Given the description of an element on the screen output the (x, y) to click on. 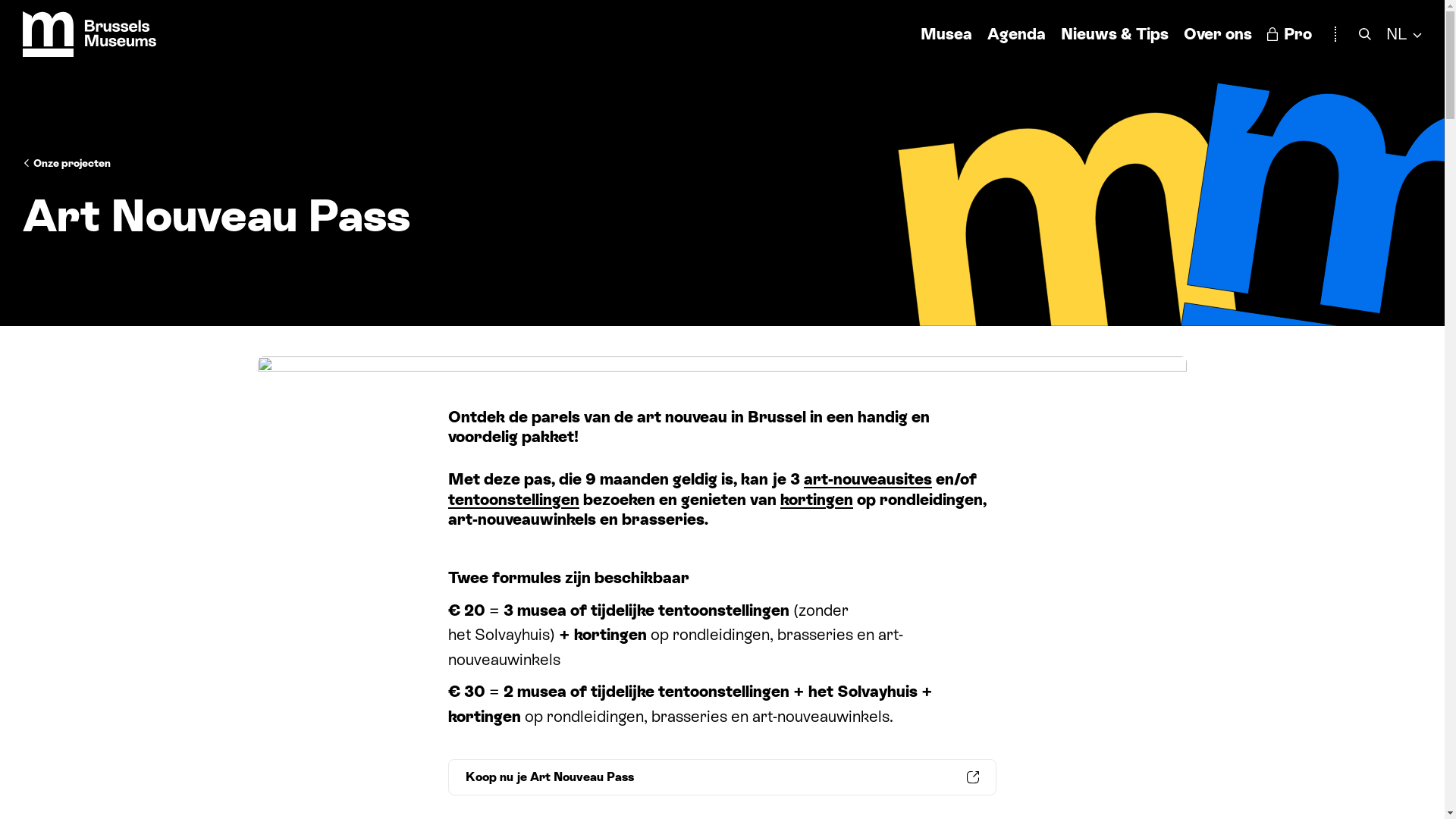
Nederlands
NL Element type: text (1403, 33)
art-nouveausites Element type: text (867, 479)
Zoeken Element type: hover (1364, 33)
Koop nu je Art Nouveau Pass Element type: text (721, 776)
Over ons Element type: text (1217, 33)
Onze projecten Element type: text (66, 162)
Agenda Element type: text (1016, 33)
tentoonstellingen Element type: text (513, 499)
kortingen Element type: text (816, 499)
Pro Element type: text (1289, 33)
Musea Element type: text (946, 33)
Nieuws & Tips Element type: text (1114, 33)
Brussels Museums Element type: text (89, 33)
